Given the description of an element on the screen output the (x, y) to click on. 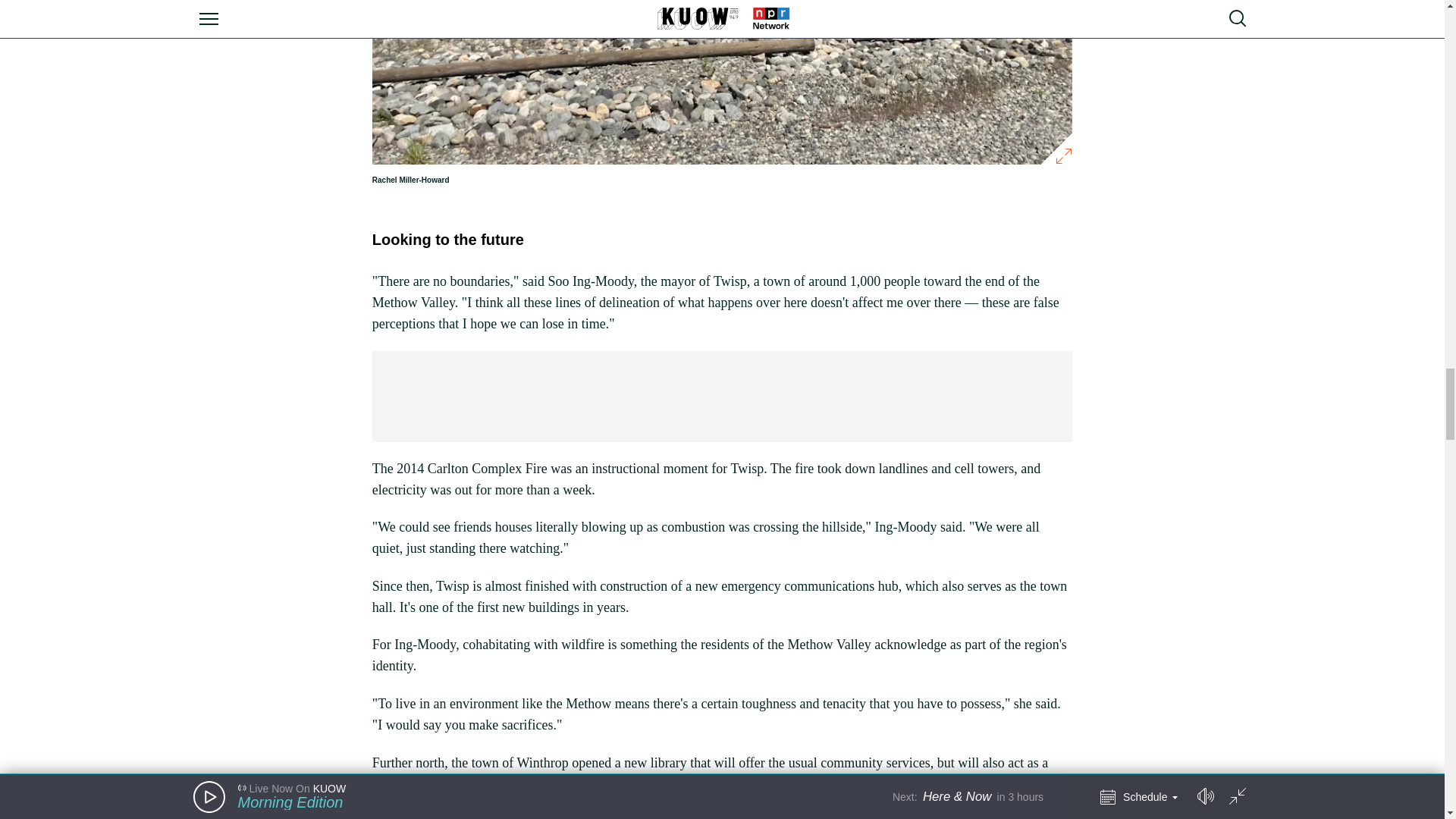
3rd party ad content (721, 396)
